Given the description of an element on the screen output the (x, y) to click on. 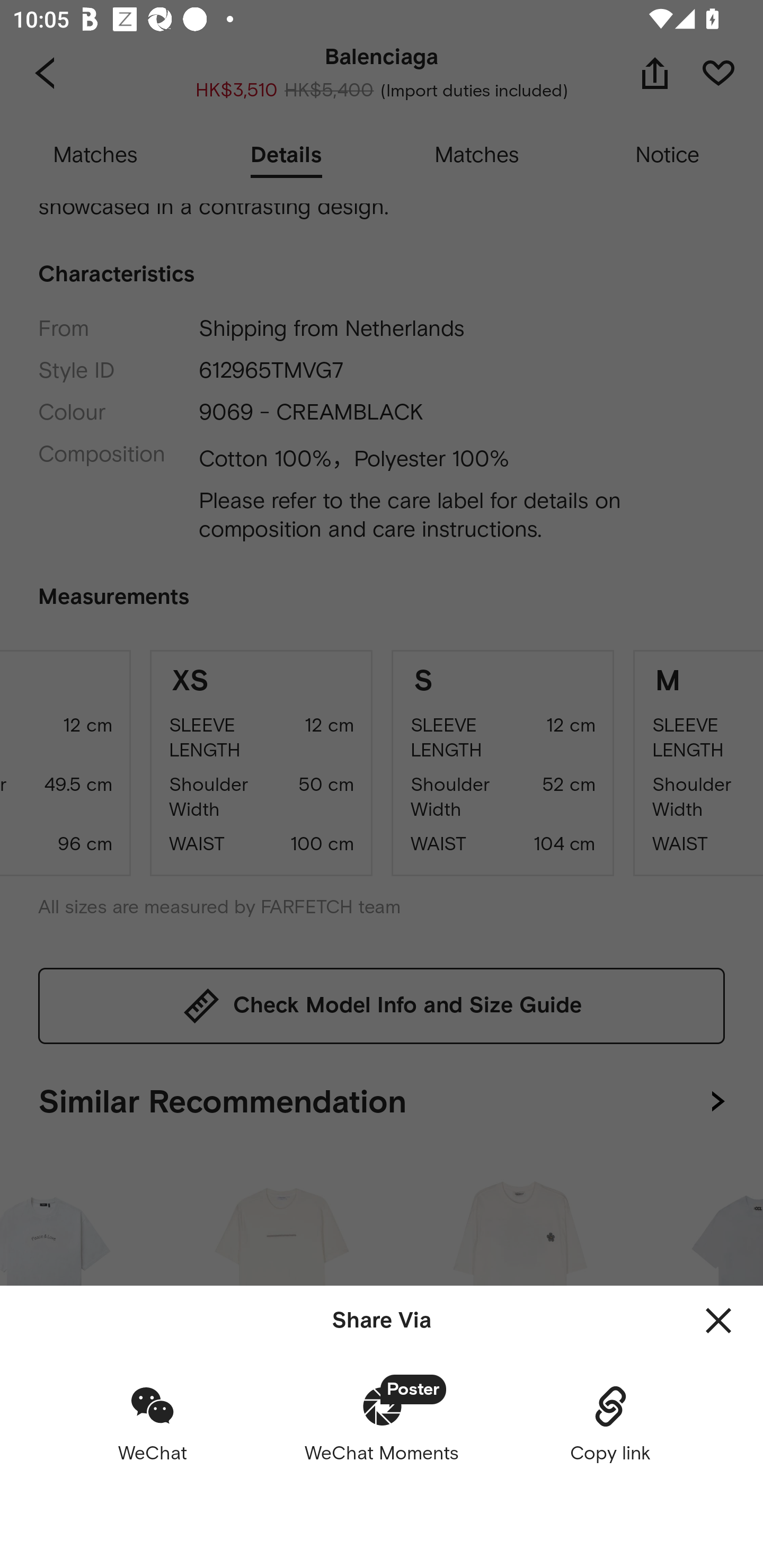
WeChat (152, 1423)
WeChat Moments Poster (381, 1423)
Copy link (609, 1423)
